Given the description of an element on the screen output the (x, y) to click on. 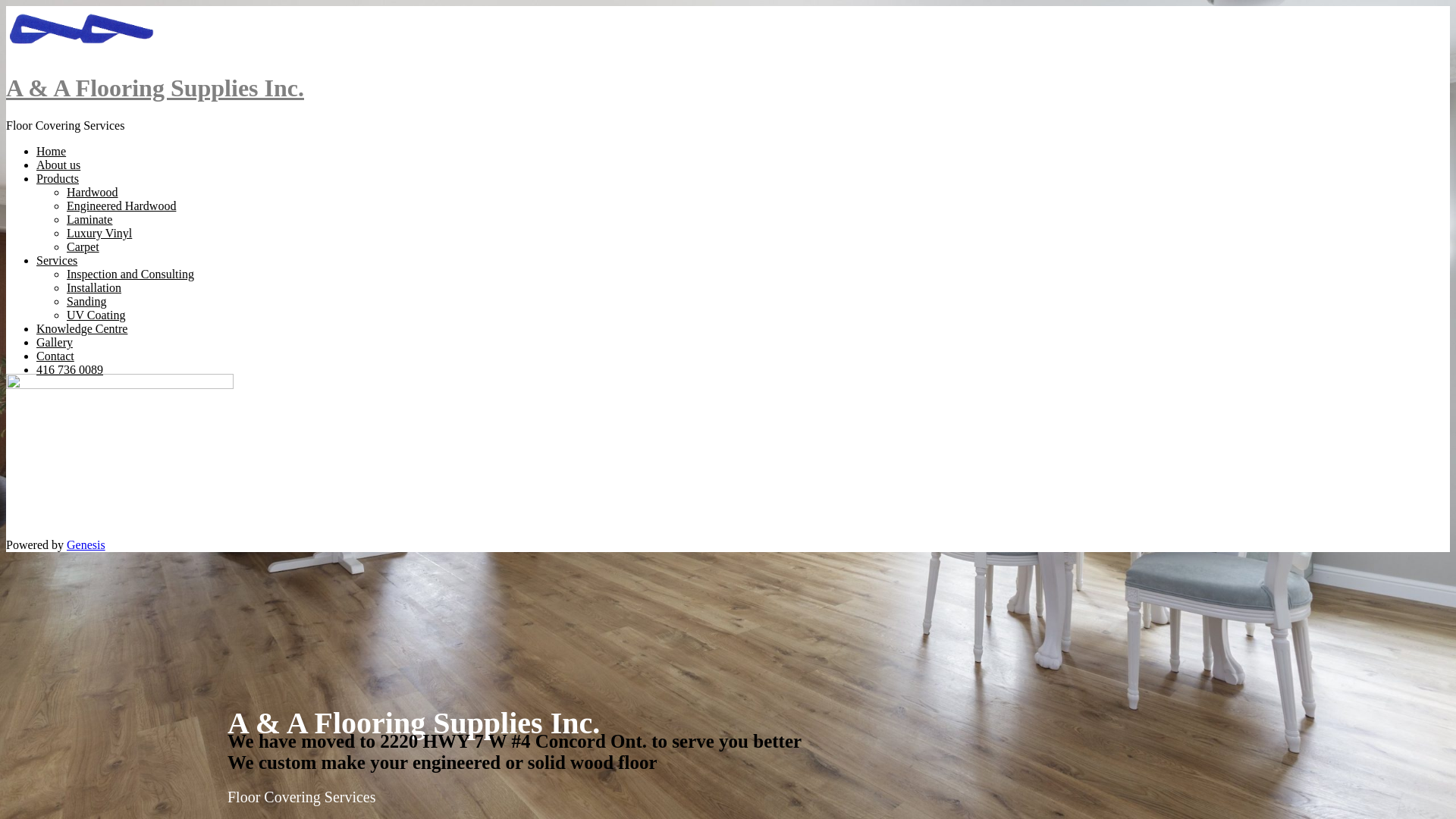
UV Coating Element type: text (95, 314)
Installation Element type: text (93, 287)
Home Element type: text (50, 150)
Engineered Hardwood Element type: text (120, 205)
Carpet Element type: text (82, 246)
Services Element type: text (56, 260)
About us Element type: text (58, 164)
Knowledge Centre Element type: text (81, 328)
Contact Element type: text (55, 355)
Hardwood Element type: text (92, 191)
Laminate Element type: text (89, 219)
A & A Flooring Supplies Inc. Element type: text (155, 87)
Products Element type: text (57, 178)
Gallery Element type: text (54, 341)
416 736 0089 Element type: text (69, 369)
Inspection and Consulting Element type: text (130, 273)
Luxury Vinyl Element type: text (98, 232)
Genesis Element type: text (85, 544)
Sanding Element type: text (86, 300)
